Given the description of an element on the screen output the (x, y) to click on. 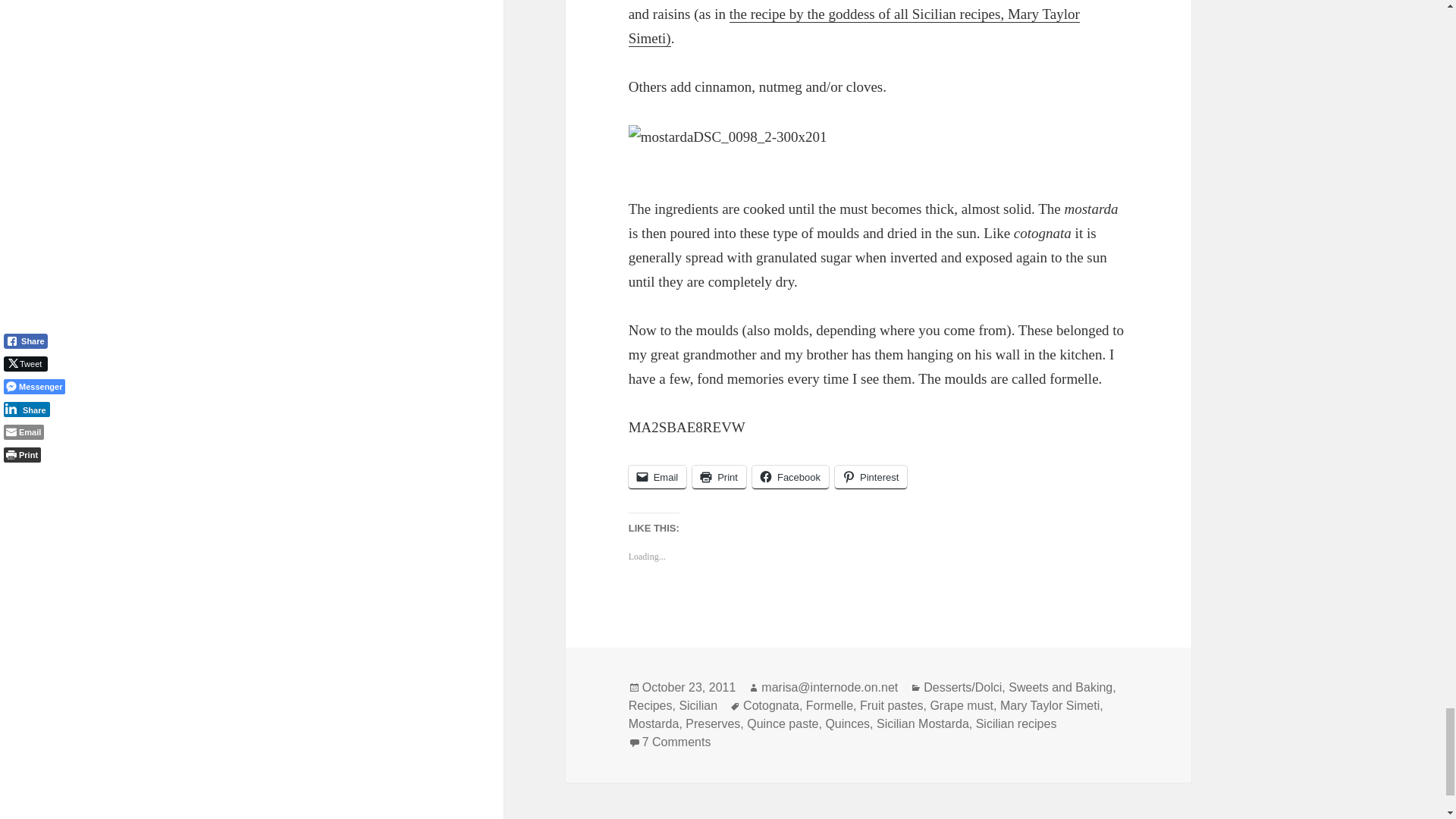
Click to share on Facebook (790, 477)
Click to print (719, 477)
Click to share on Pinterest (870, 477)
Click to email a link to a friend (657, 477)
